Given the description of an element on the screen output the (x, y) to click on. 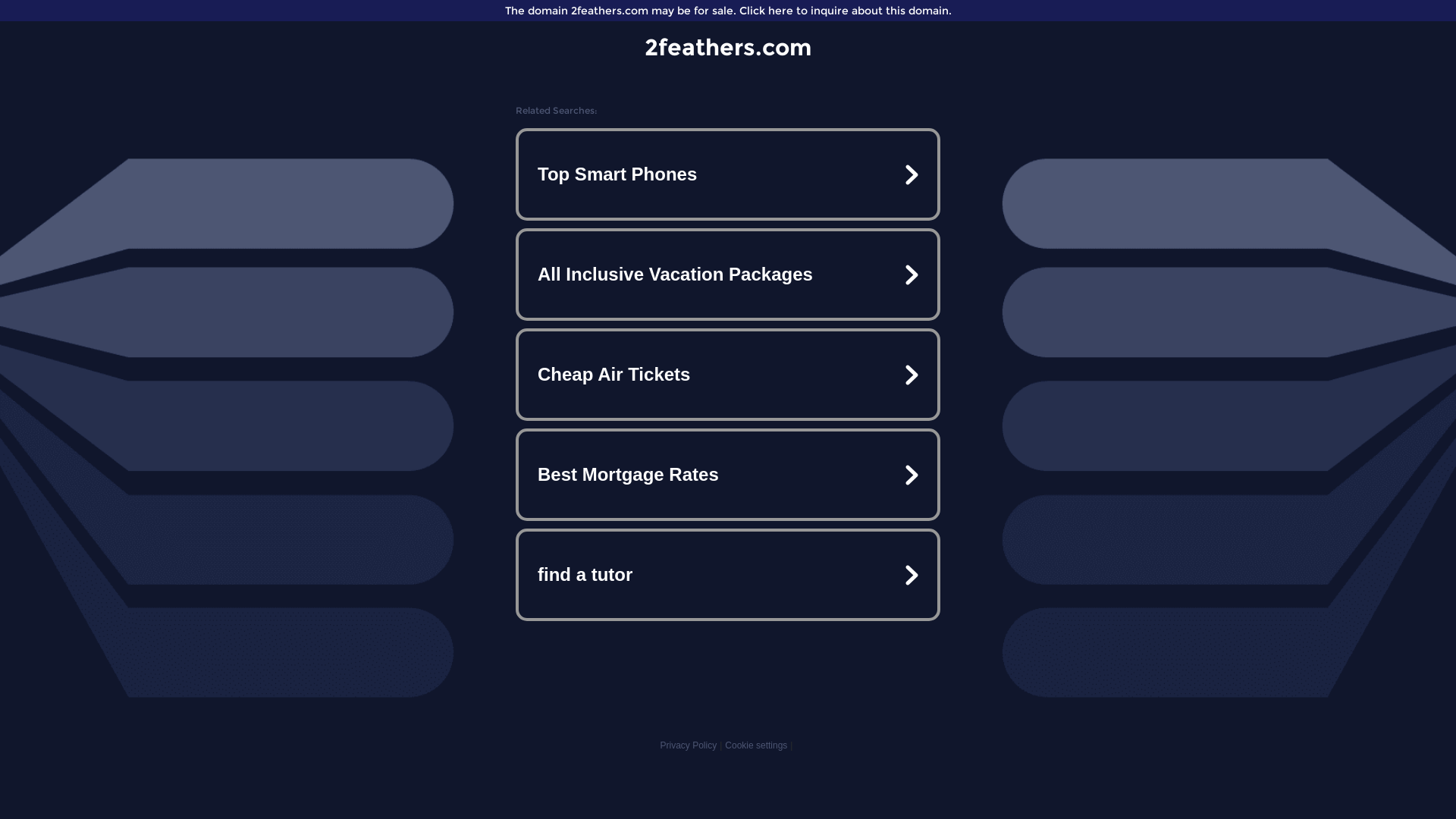
Best Mortgage Rates Element type: text (727, 474)
2feathers.com Element type: text (727, 47)
Top Smart Phones Element type: text (727, 174)
find a tutor Element type: text (727, 574)
Cheap Air Tickets Element type: text (727, 374)
Cookie settings Element type: text (755, 745)
All Inclusive Vacation Packages Element type: text (727, 274)
Privacy Policy Element type: text (687, 745)
